Given the description of an element on the screen output the (x, y) to click on. 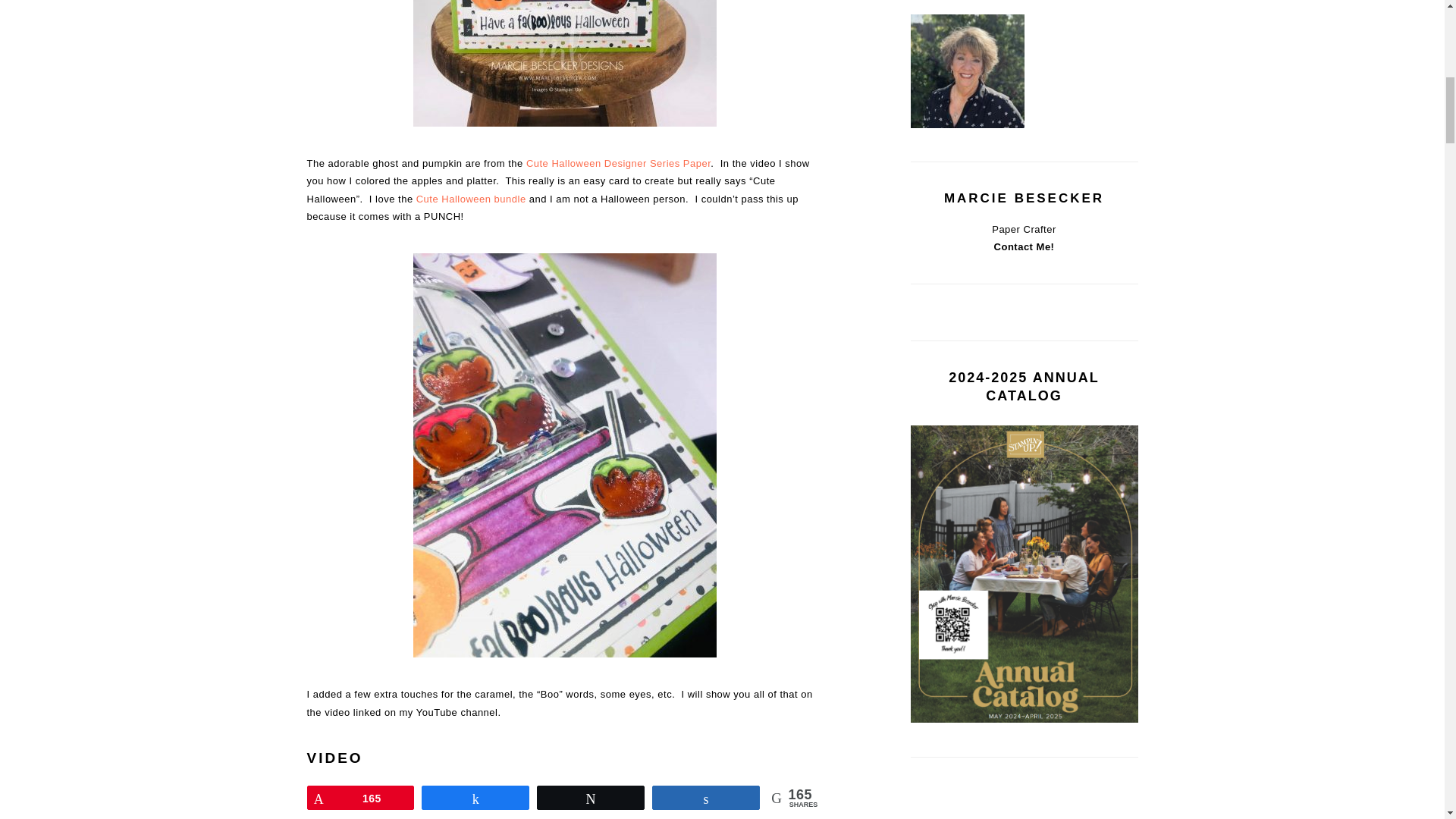
2024-2025 Annual Catalog (1023, 718)
Cute Halloween Designer Series Paper (617, 163)
Cute Halloween bundle (470, 198)
